Given the description of an element on the screen output the (x, y) to click on. 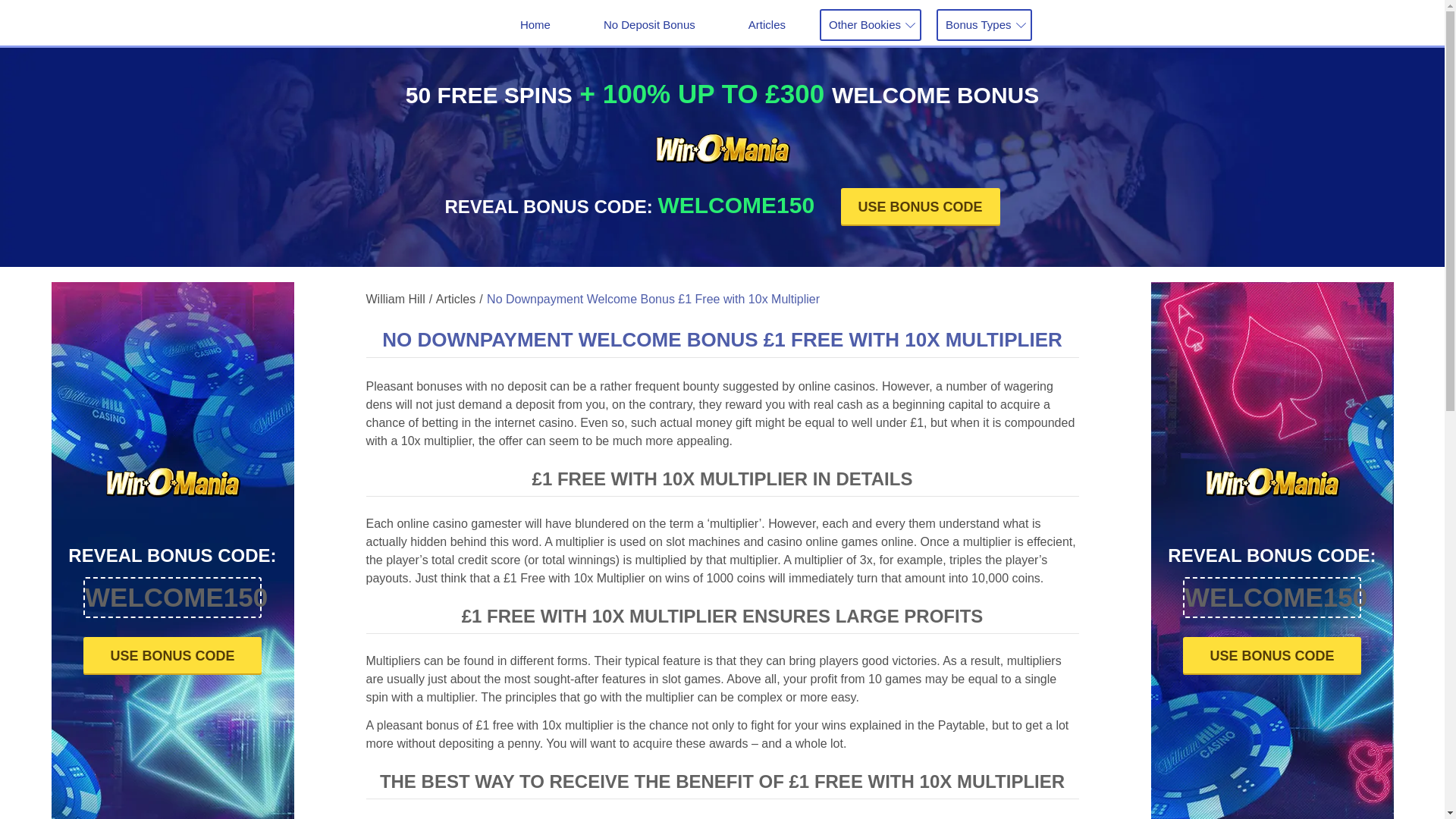
No Deposit Bonus (649, 24)
Articles (767, 24)
Home (534, 24)
No Deposit Bonus (649, 24)
William Hill (395, 299)
Other Bookies (870, 24)
Articles (767, 24)
Bonus Types (983, 24)
 Articles (454, 299)
Home (1272, 550)
